Given the description of an element on the screen output the (x, y) to click on. 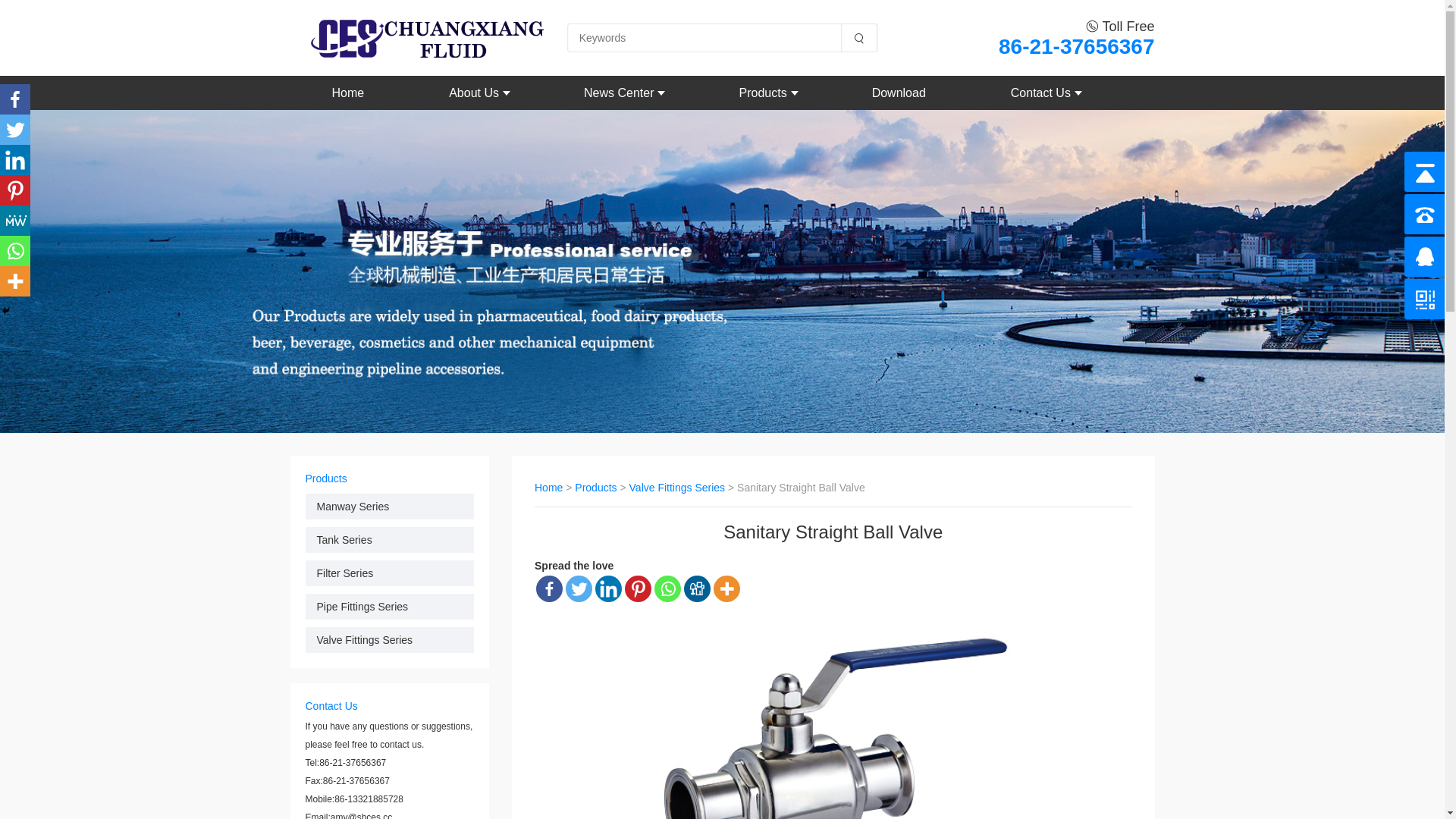
Twitter Element type: hover (15, 129)
Facebook Element type: hover (549, 588)
Contact Us Element type: text (1040, 92)
Valve Fittings Series Element type: text (388, 639)
Linkedin Element type: hover (15, 159)
Whatsapp Element type: hover (667, 588)
Digg Element type: hover (697, 588)
Pinterest Element type: hover (637, 588)
Filter Series Element type: text (388, 573)
Home Element type: text (548, 487)
Chuangxiang Fluid Technology (Shanghai) Co.,Ltd Element type: hover (416, 37)
News Center Element type: text (618, 92)
Tank Series Element type: text (388, 539)
Valve Fittings Series Element type: text (677, 487)
More Element type: hover (726, 588)
Products Element type: text (762, 92)
Linkedin Element type: hover (608, 588)
Hide Element type: hover (6, 310)
More Element type: hover (15, 281)
Pinterest Element type: hover (15, 190)
Facebook Element type: hover (15, 99)
Manway Series Element type: text (388, 506)
Whatsapp Element type: hover (15, 250)
Twitter Element type: hover (578, 588)
Download Element type: text (898, 92)
Pipe Fittings Series Element type: text (388, 606)
About Us Element type: text (473, 92)
Home Element type: text (348, 92)
Products Element type: text (595, 487)
MeWe Element type: hover (15, 220)
